Given the description of an element on the screen output the (x, y) to click on. 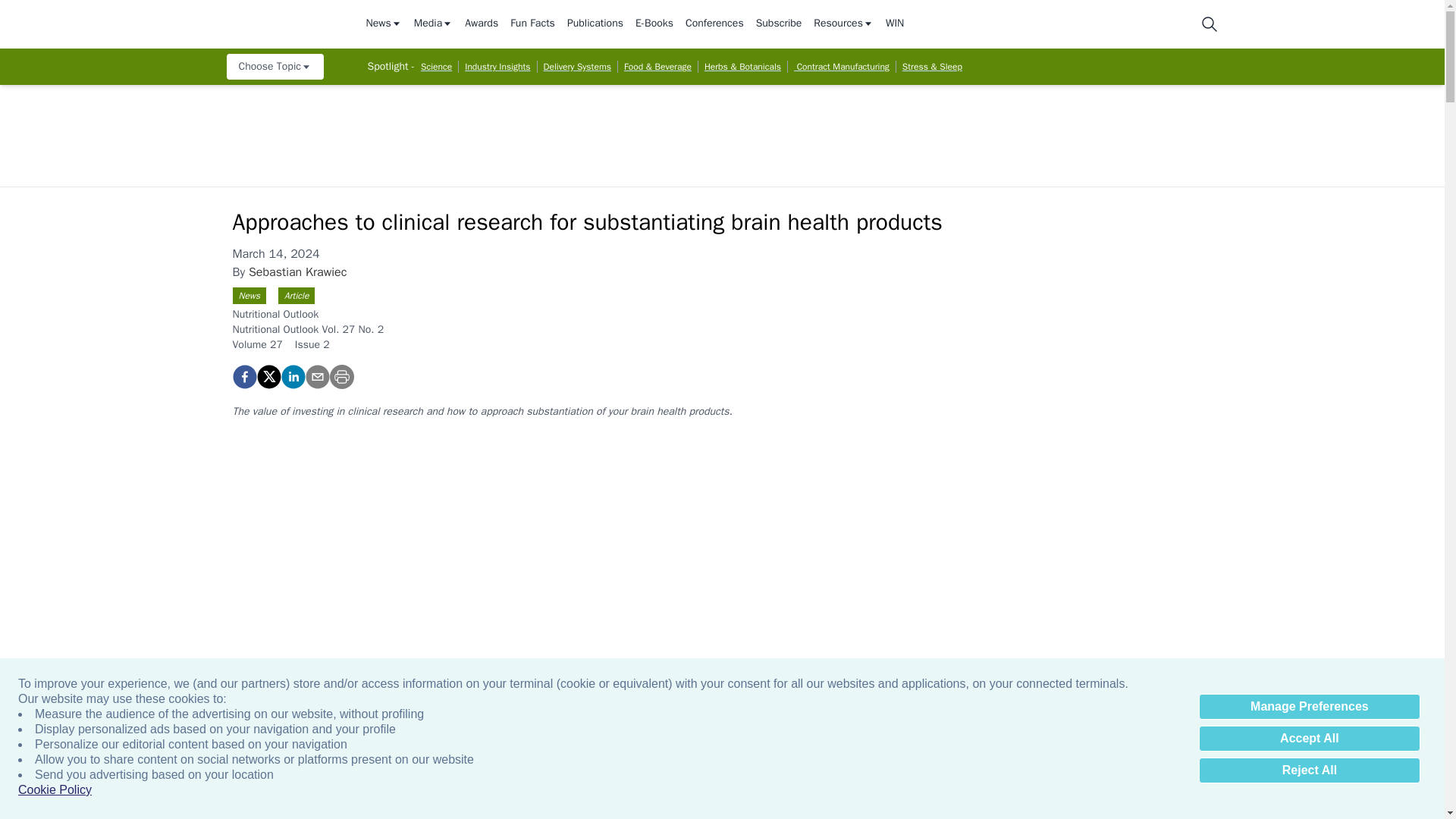
News (383, 23)
Subscribe (778, 23)
E-Books (653, 23)
Publications (595, 23)
Choose Topic (274, 66)
Conferences (714, 23)
Cookie Policy (54, 789)
Fun Facts (532, 23)
Resources (843, 23)
Awards (480, 23)
Media (432, 23)
Manage Preferences (1309, 706)
Reject All (1309, 769)
Accept All (1309, 738)
